Given the description of an element on the screen output the (x, y) to click on. 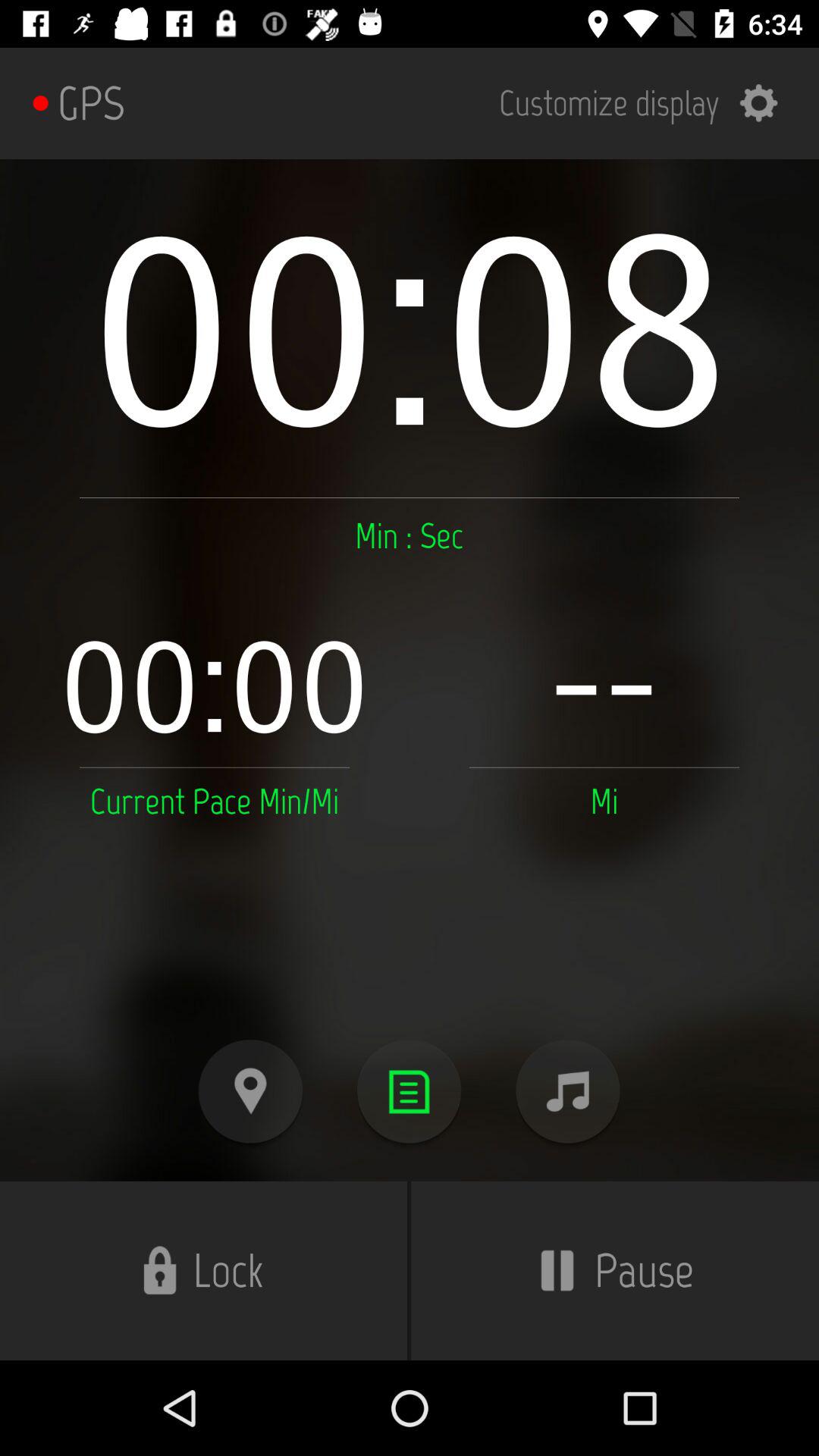
open music (567, 1091)
